Given the description of an element on the screen output the (x, y) to click on. 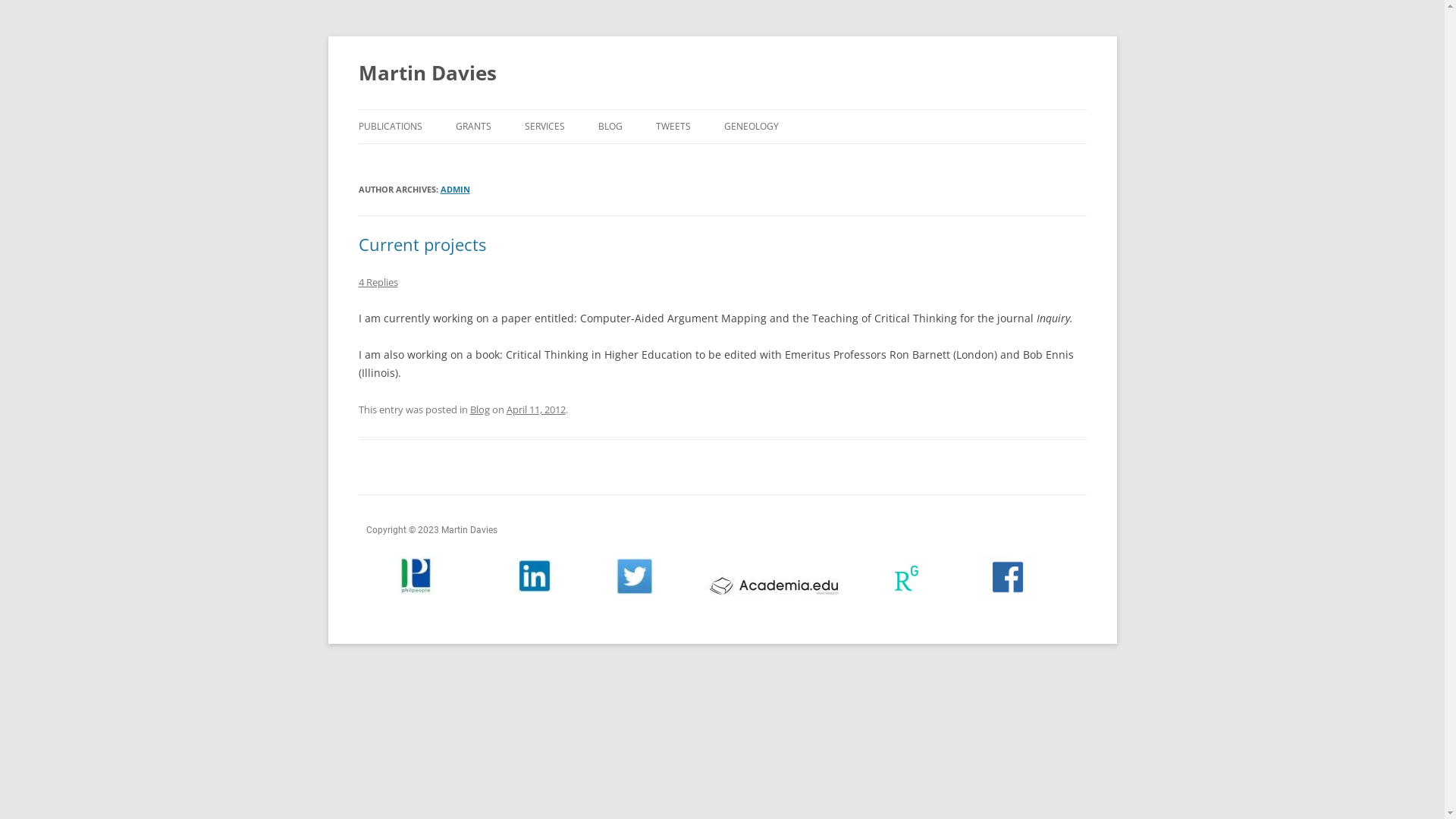
GRANTS Element type: text (472, 126)
Current projects Element type: text (421, 243)
SERVICES Element type: text (544, 126)
Martin Davies Element type: text (426, 72)
GENEOLOGY Element type: text (750, 126)
ADMIN Element type: text (454, 188)
BLOG Element type: text (609, 126)
Blog Element type: text (479, 409)
TWEETS Element type: text (672, 126)
April 11, 2012 Element type: text (535, 409)
PUBLICATIONS Element type: text (389, 126)
4 Replies Element type: text (377, 281)
Skip to content Element type: text (721, 109)
